Given the description of an element on the screen output the (x, y) to click on. 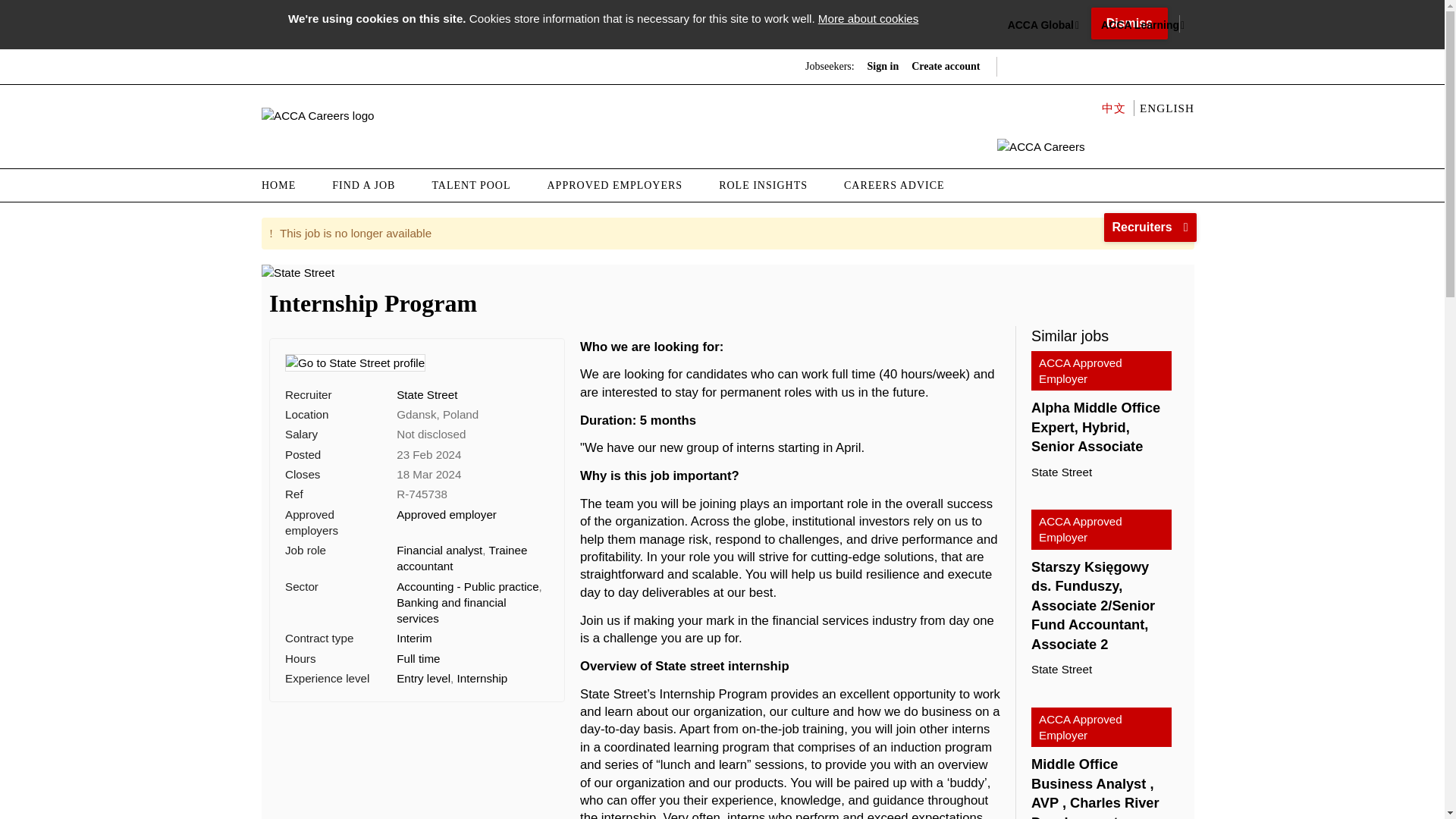
Entry level (422, 677)
Banking and financial services (450, 610)
Internship (482, 677)
APPROVED EMPLOYERS (615, 185)
Sign in (882, 66)
FIND A JOB (363, 185)
Full time (417, 658)
HOME (288, 185)
More about cookies (868, 18)
Recruiters (1149, 226)
ROLE INSIGHTS (762, 185)
CAREERS ADVICE (893, 185)
ACCA Careers (318, 115)
ACCA Global (1040, 25)
ACCA Learning (1139, 25)
